Given the description of an element on the screen output the (x, y) to click on. 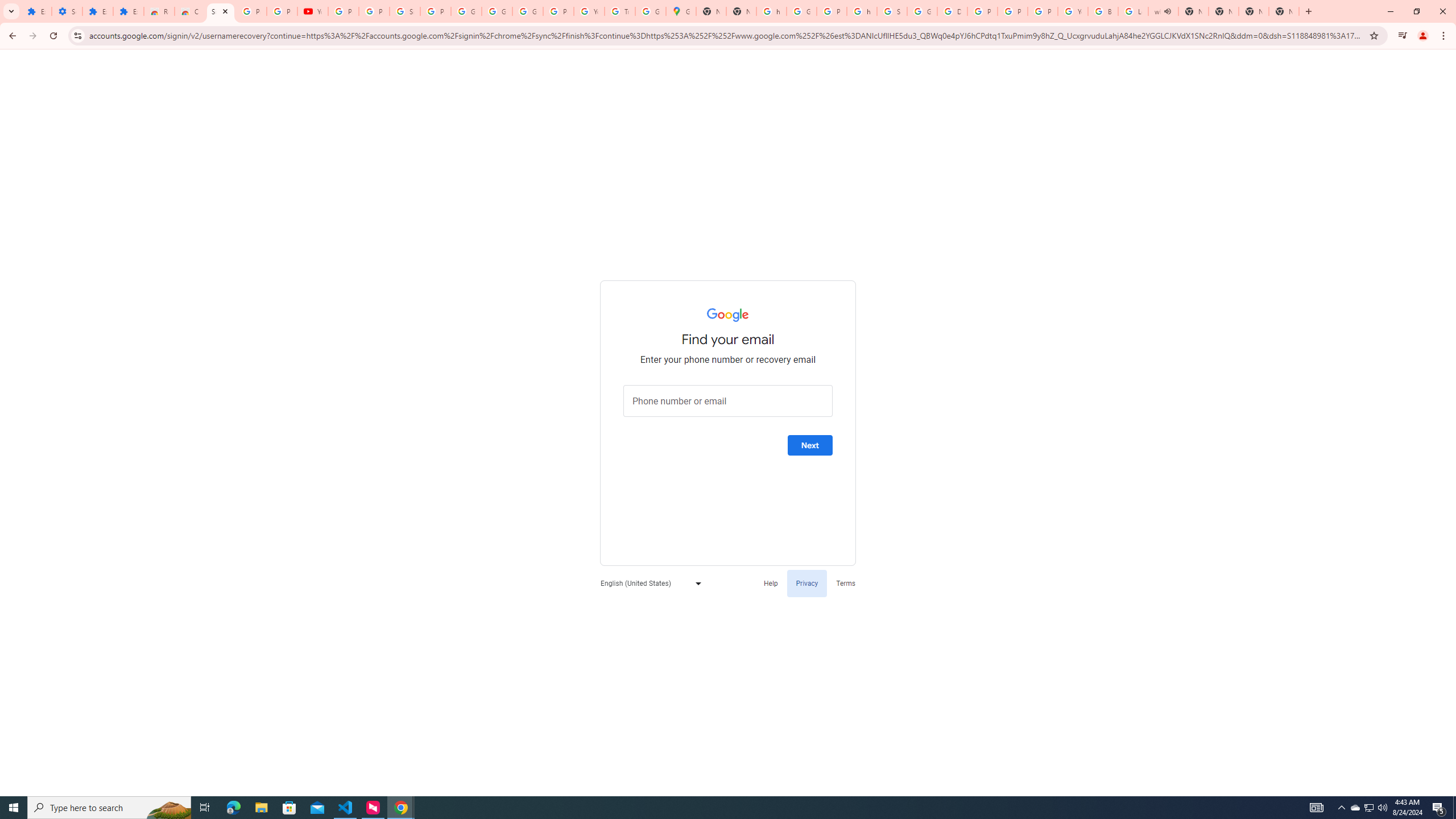
Sign in - Google Accounts (220, 11)
Reviews: Helix Fruit Jump Arcade Game (158, 11)
Google Account (496, 11)
Privacy Help Center - Policies Help (1012, 11)
YouTube (312, 11)
